Given the description of an element on the screen output the (x, y) to click on. 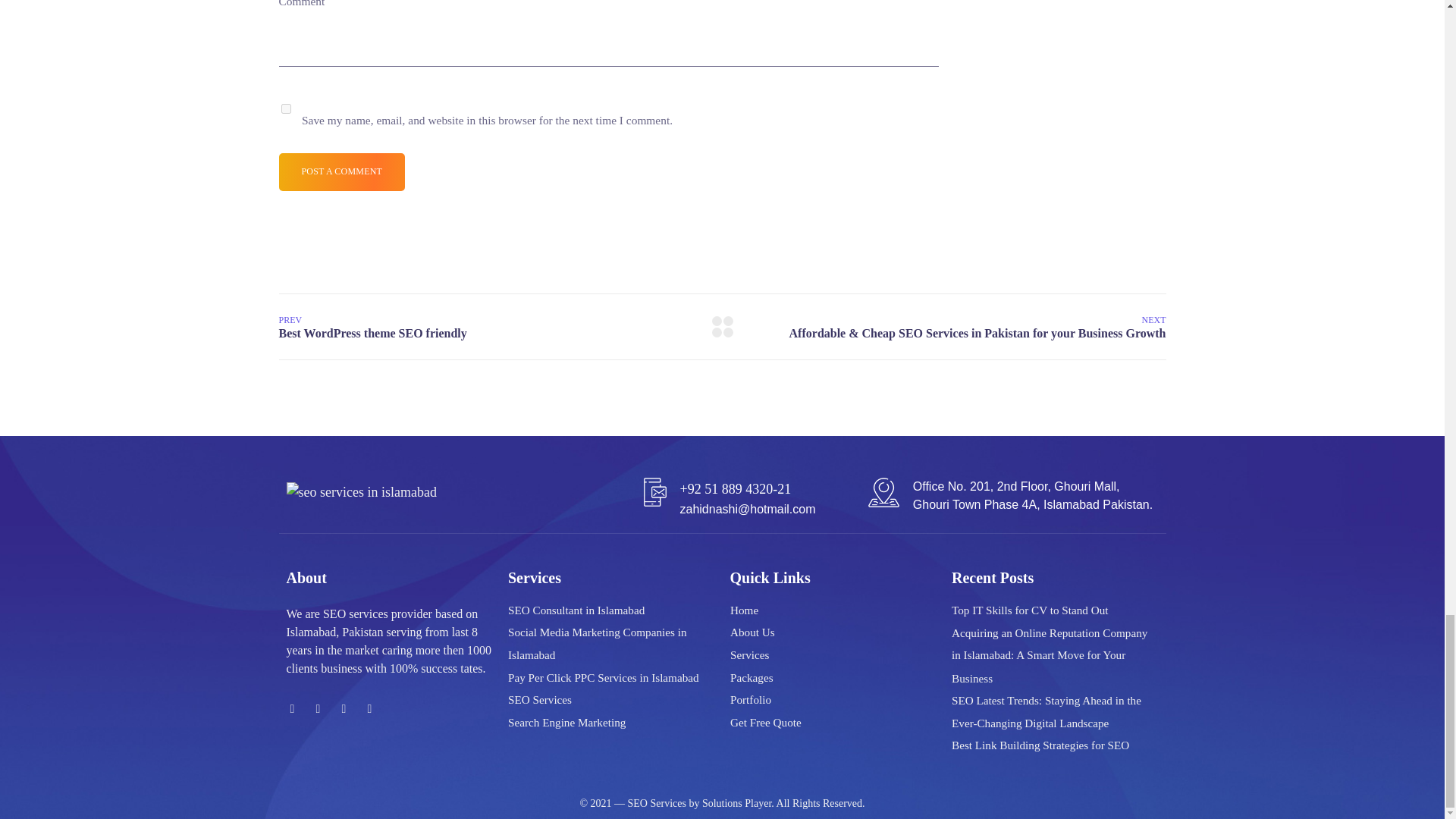
seo-services (361, 492)
yes (285, 108)
